Given the description of an element on the screen output the (x, y) to click on. 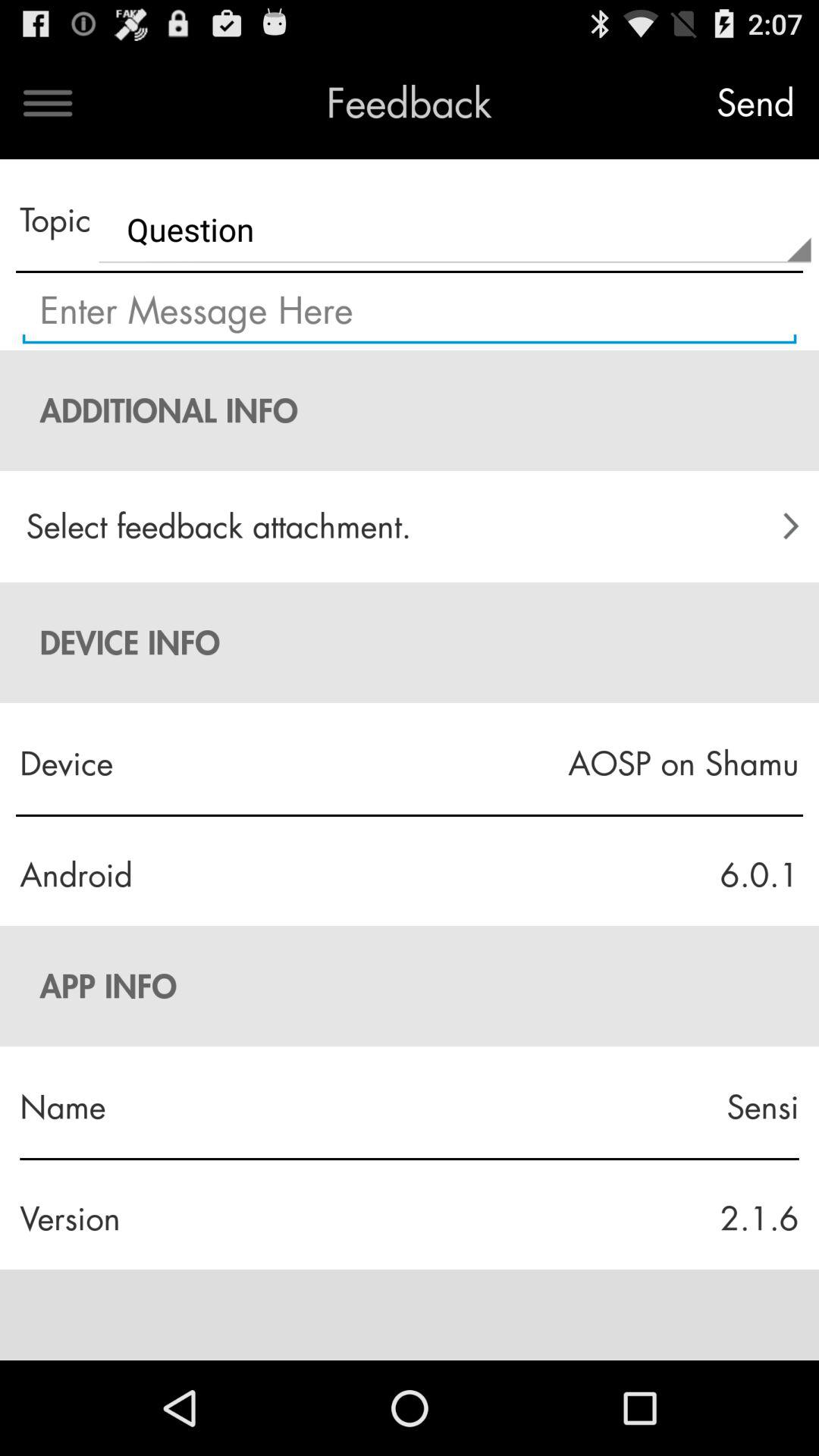
jump until send item (755, 103)
